Given the description of an element on the screen output the (x, y) to click on. 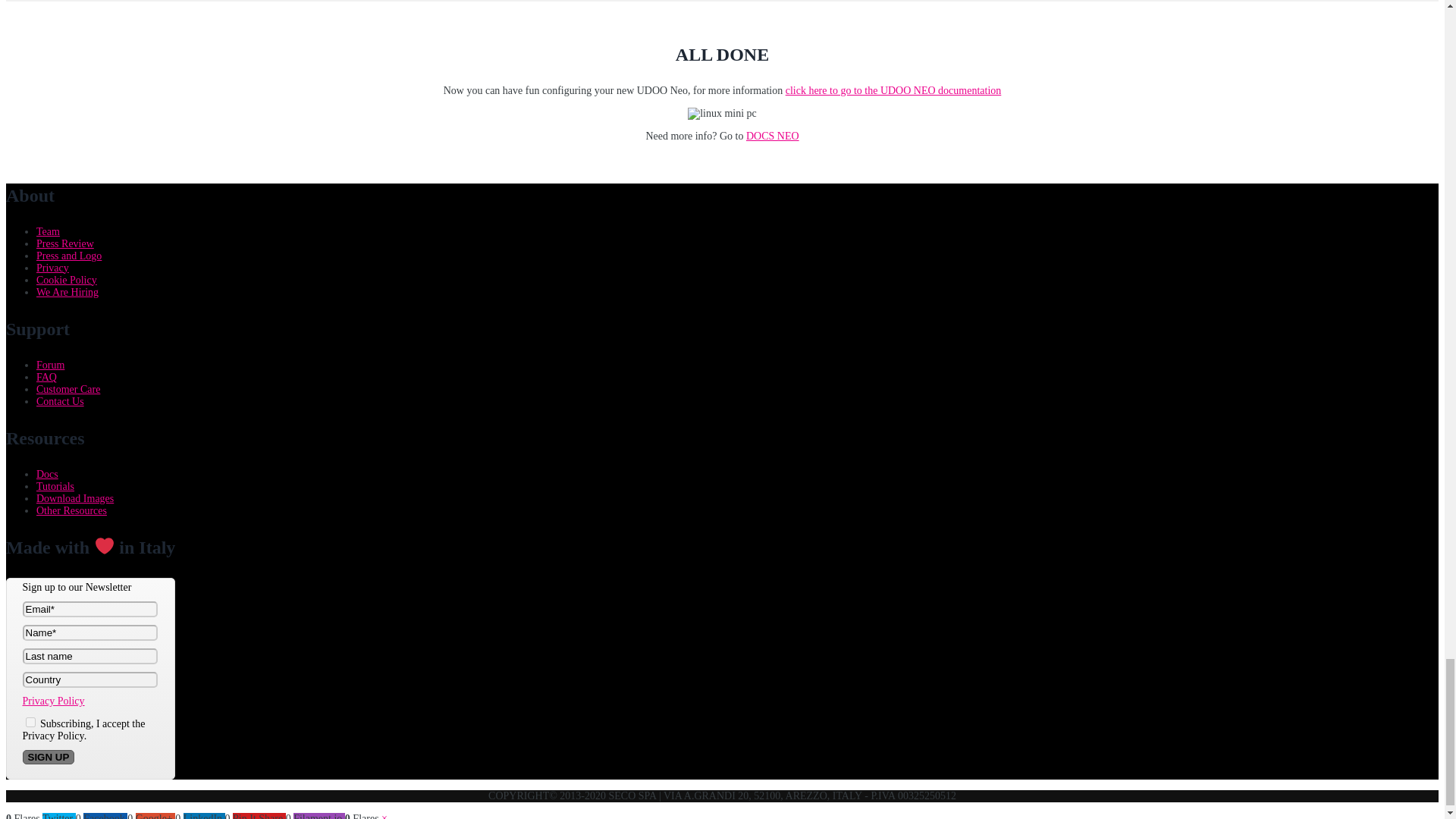
yes (30, 722)
SIGN UP (49, 757)
